Given the description of an element on the screen output the (x, y) to click on. 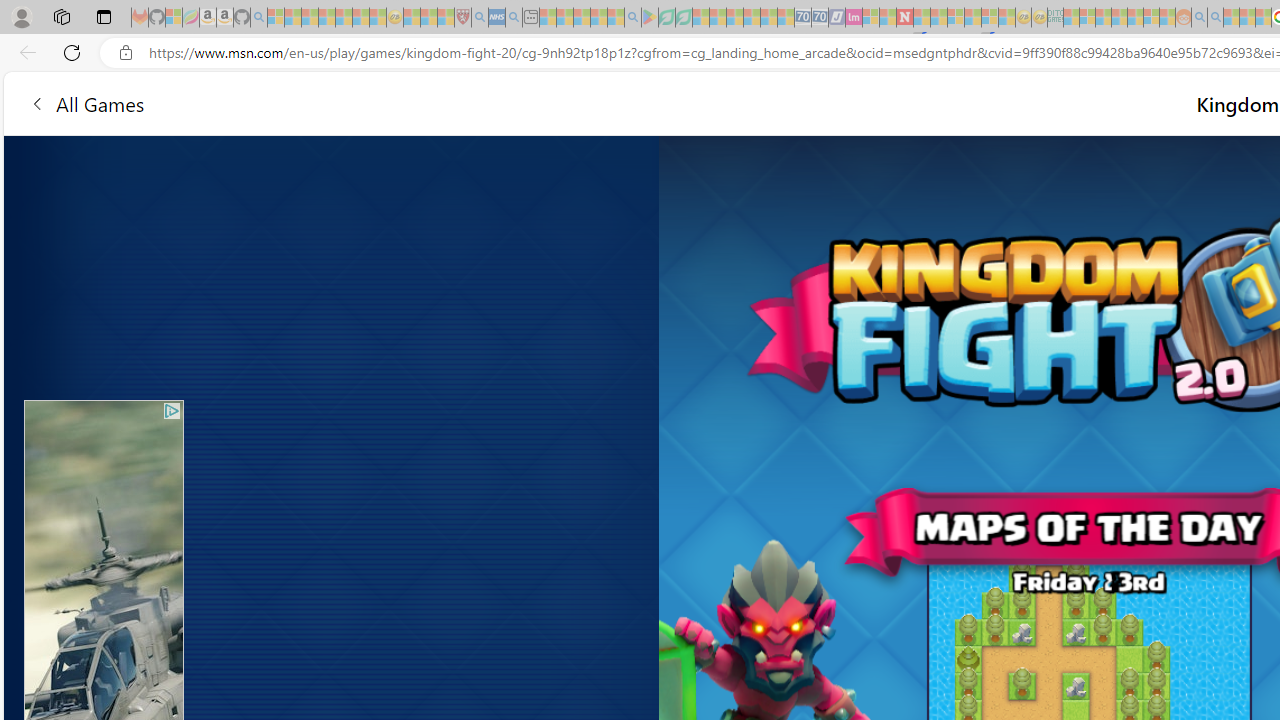
utah sues federal government - Search - Sleeping (513, 17)
Kinda Frugal - MSN - Sleeping (1135, 17)
All Games (445, 102)
Robert H. Shmerling, MD - Harvard Health - Sleeping (462, 17)
list of asthma inhalers uk - Search - Sleeping (479, 17)
Microsoft-Report a Concern to Bing - Sleeping (173, 17)
Microsoft Start - Sleeping (1231, 17)
DITOGAMES AG Imprint - Sleeping (1055, 17)
MSNBC - MSN - Sleeping (1071, 17)
